Given the description of an element on the screen output the (x, y) to click on. 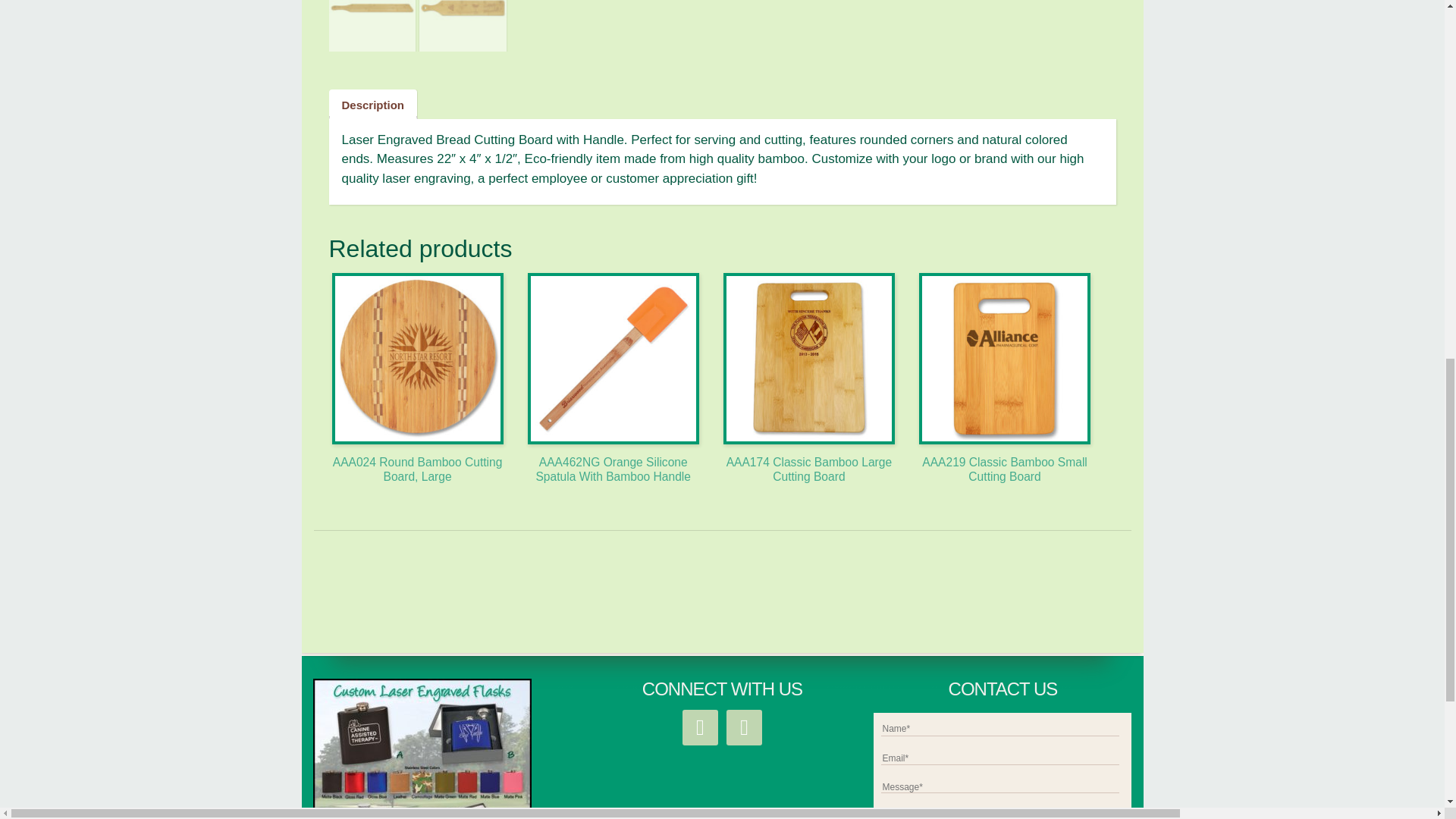
Description (372, 104)
linkedin (743, 726)
facebook (699, 726)
